Given the description of an element on the screen output the (x, y) to click on. 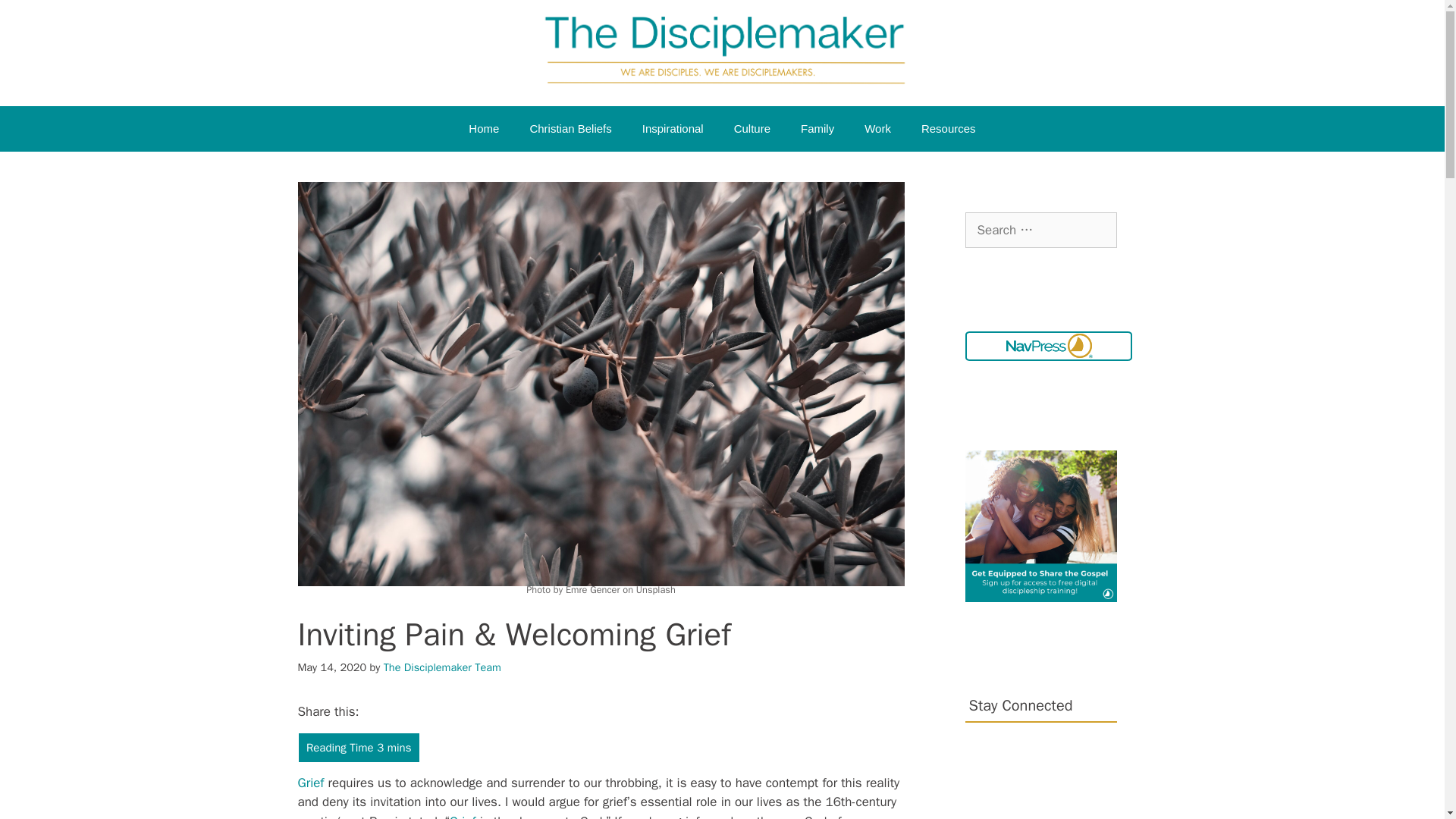
Family (817, 128)
NavPress (1047, 346)
Search for: (1039, 230)
Resources (948, 128)
Home (482, 128)
Culture (752, 128)
Christian Beliefs (569, 128)
View all posts by The Disciplemaker Team (442, 667)
Grief (464, 816)
The Disciplemaker Team (442, 667)
Grief (312, 782)
Search (35, 18)
Inspirational (673, 128)
Work (876, 128)
